Given the description of an element on the screen output the (x, y) to click on. 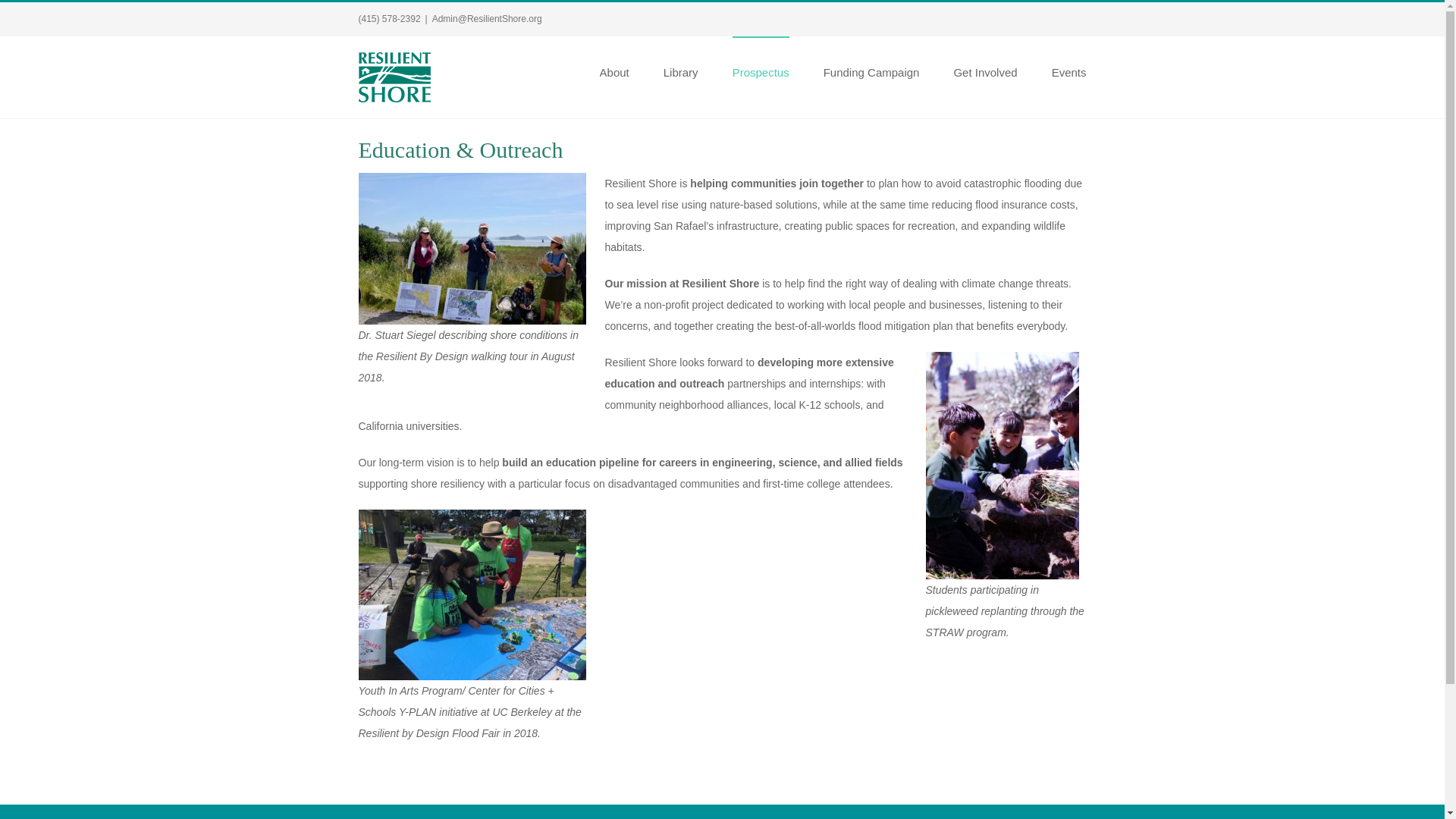
Funding Campaign (872, 71)
Get Involved (984, 71)
